Given the description of an element on the screen output the (x, y) to click on. 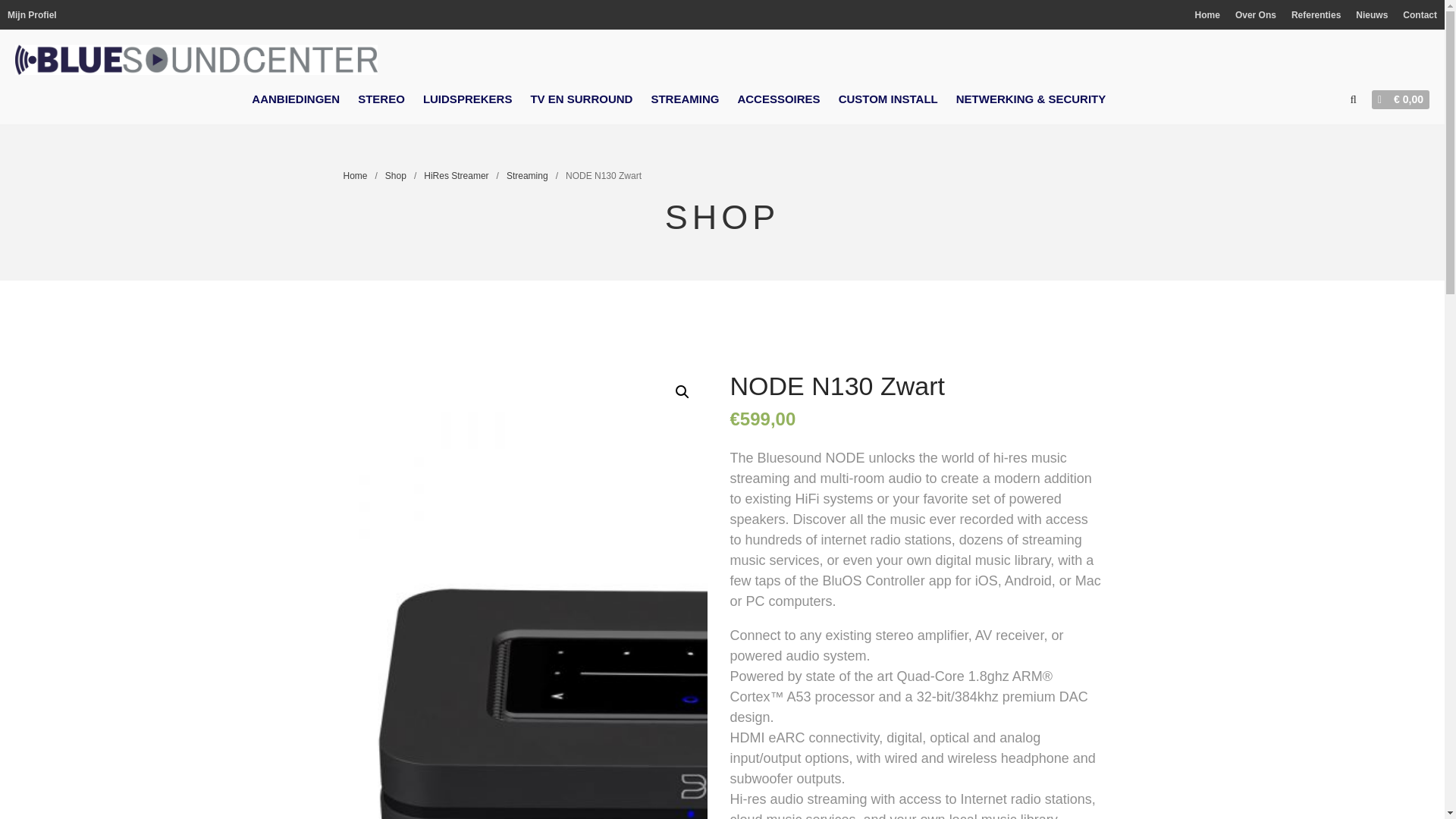
HiRes Streamer (455, 175)
Home (1207, 15)
Contact (1420, 15)
TV EN SURROUND (581, 99)
STREAMING (684, 99)
ACCESSOIRES (778, 99)
Mijn Profiel (31, 15)
STEREO (381, 99)
AANBIEDINGEN (295, 99)
Over Ons (1255, 15)
Home (354, 175)
LUIDSPREKERS (466, 99)
Referenties (1315, 15)
Streaming (527, 175)
BLUESOUNDCENTER (459, 69)
